Given the description of an element on the screen output the (x, y) to click on. 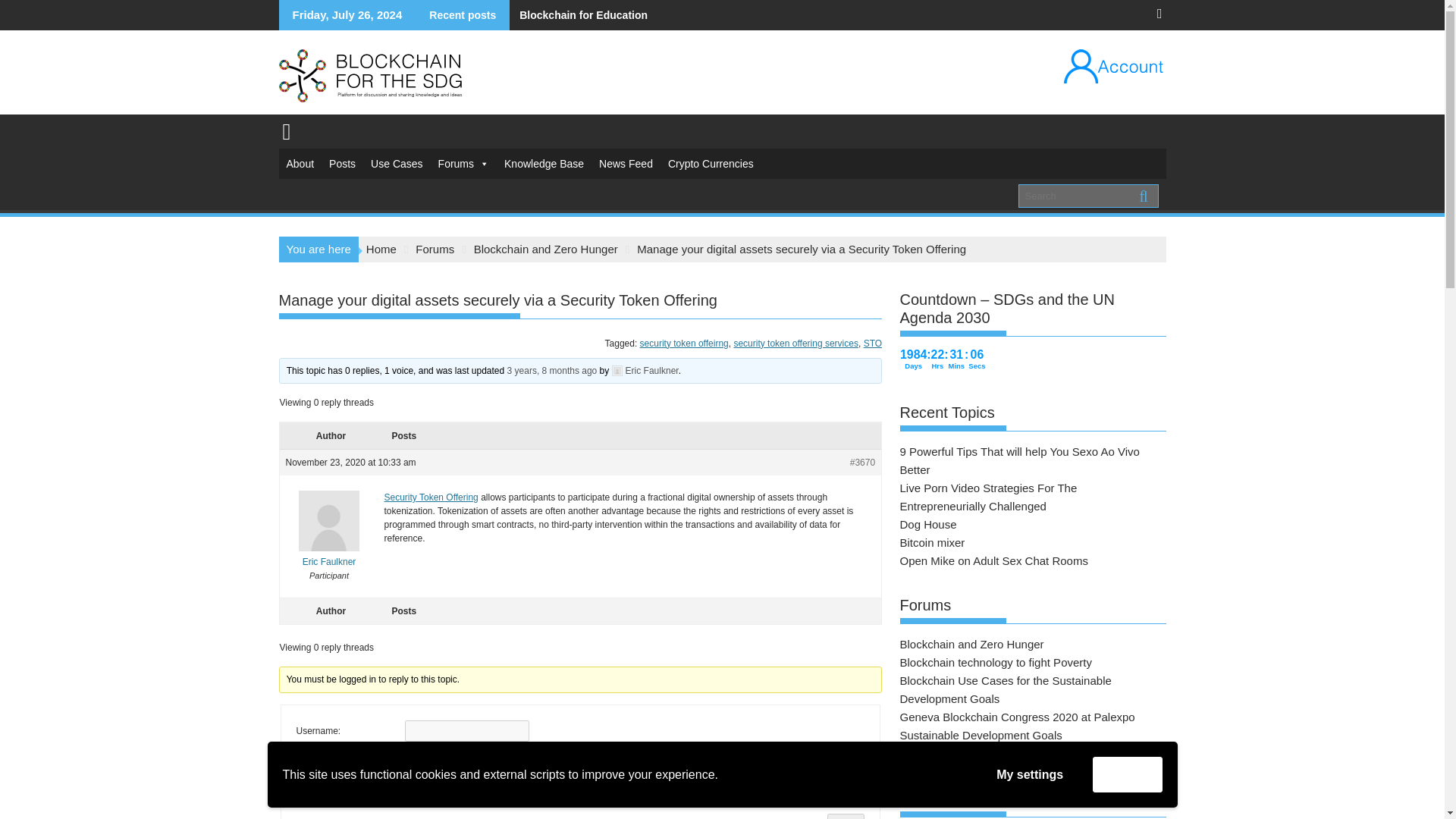
Blockchain for Education (578, 15)
forever (300, 795)
Eric Faulkner (328, 555)
Forums (434, 248)
Crypto Currencies (711, 163)
Forums (463, 163)
Eric Faulkner (644, 370)
3 years, 8 months ago (551, 370)
9 Powerful Tips That will help You Sexo Ao Vivo Better (1018, 459)
security token offeirng (684, 343)
STO (872, 343)
Use Cases (395, 163)
Home (381, 248)
View Eric Faulkner's profile (328, 555)
Security Token Offering (430, 497)
